Given the description of an element on the screen output the (x, y) to click on. 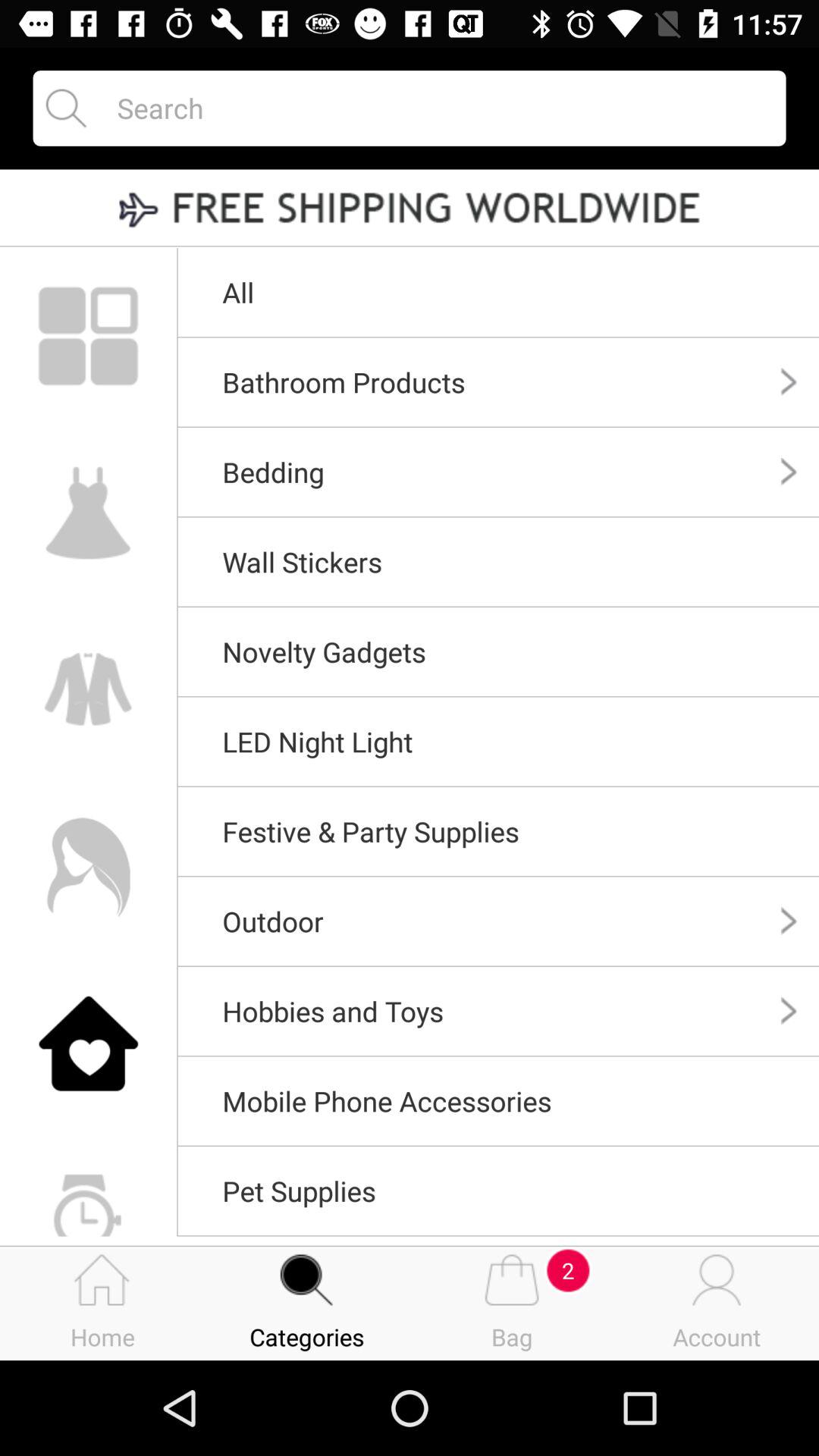
go to free shipping information (409, 209)
